Given the description of an element on the screen output the (x, y) to click on. 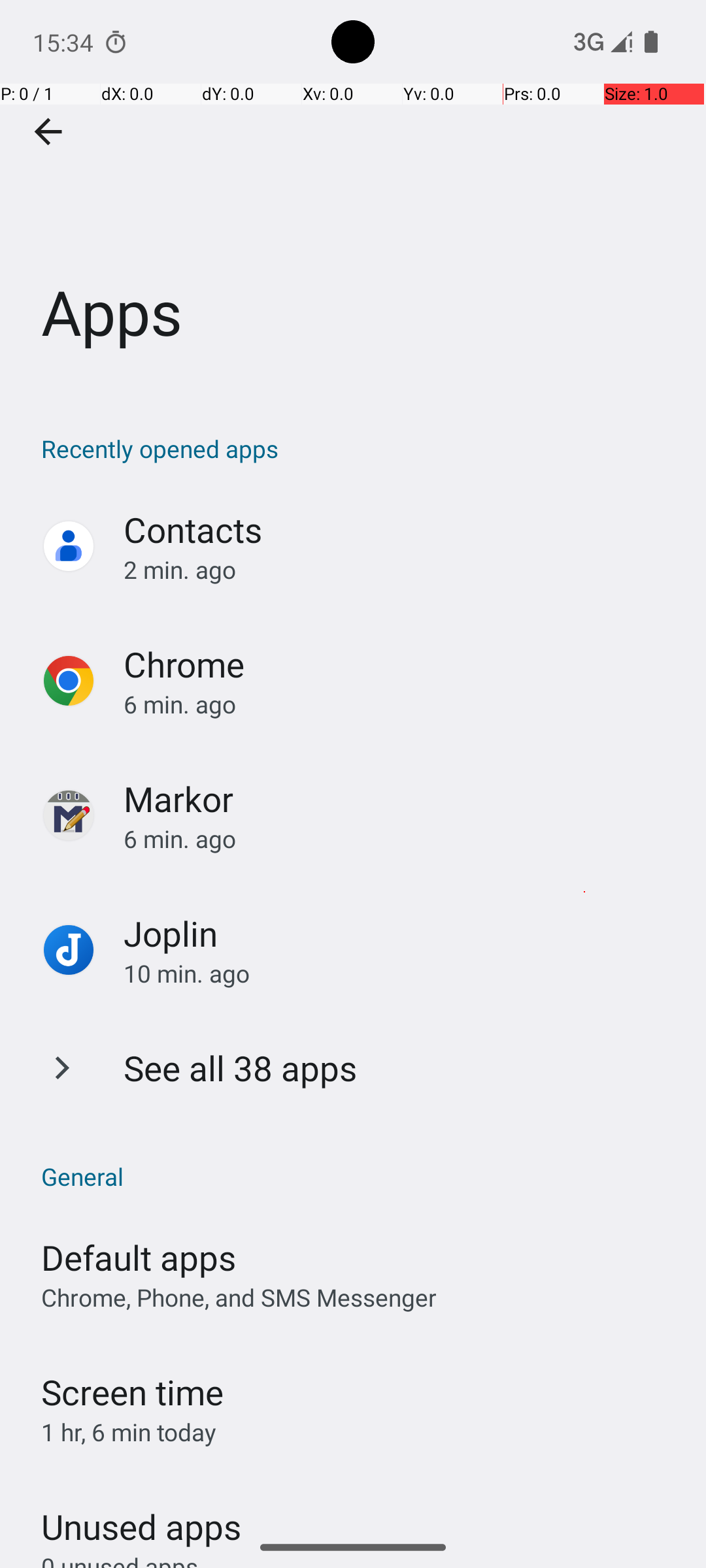
6 min. ago Element type: android.widget.TextView (400, 703)
10 min. ago Element type: android.widget.TextView (400, 972)
See all 38 apps Element type: android.widget.TextView (239, 1067)
1 hr, 6 min today Element type: android.widget.TextView (129, 1431)
